Given the description of an element on the screen output the (x, y) to click on. 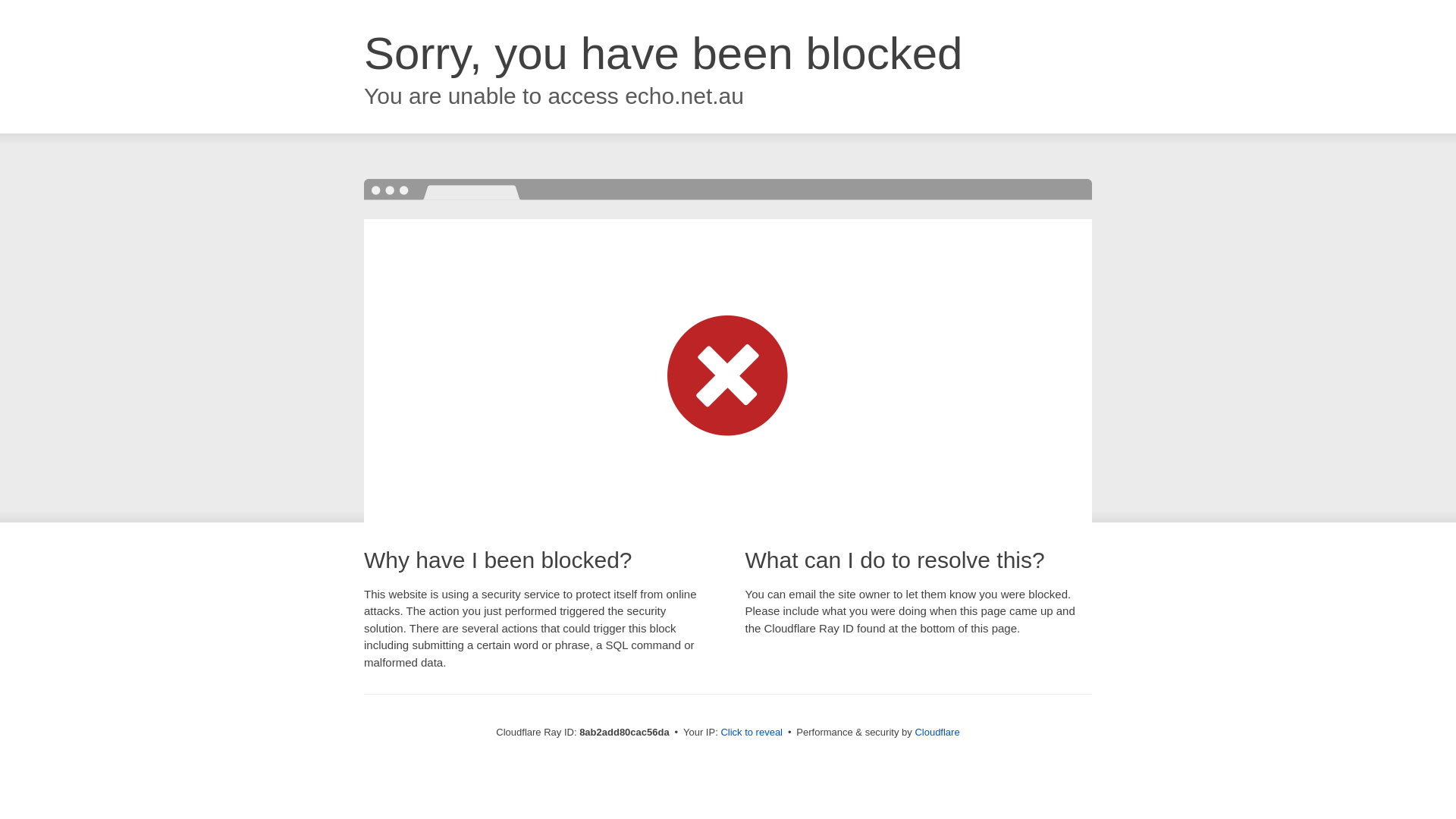
Cloudflare (936, 731)
Click to reveal (751, 732)
